Given the description of an element on the screen output the (x, y) to click on. 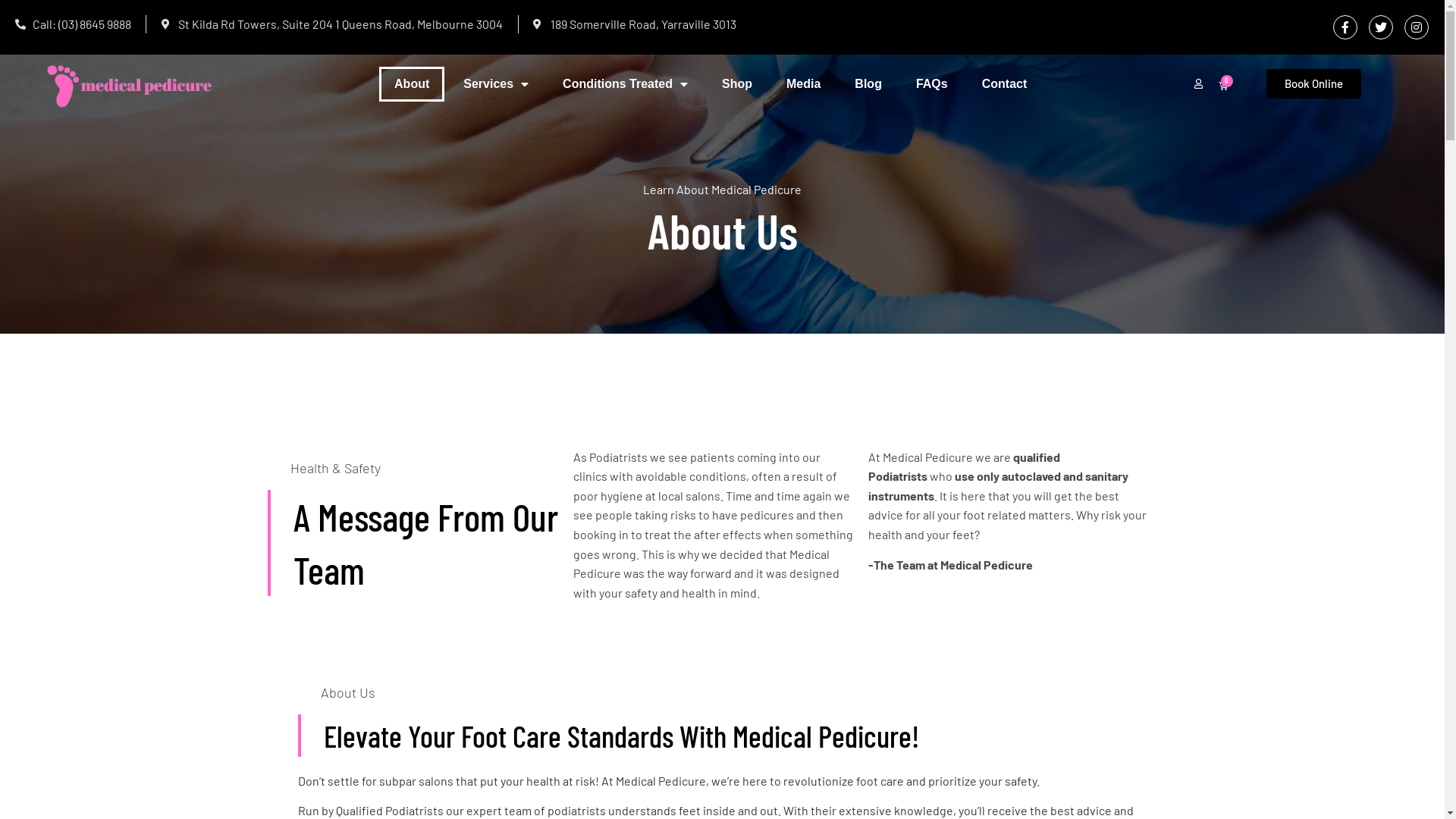
About Element type: text (411, 83)
Blog Element type: text (868, 83)
Media Element type: text (803, 83)
Book Online Element type: text (1313, 83)
Contact Element type: text (1004, 83)
Services Element type: text (495, 83)
Shop Element type: text (736, 83)
0 Element type: text (1223, 85)
Conditions Treated Element type: text (624, 83)
FAQs Element type: text (931, 83)
